Given the description of an element on the screen output the (x, y) to click on. 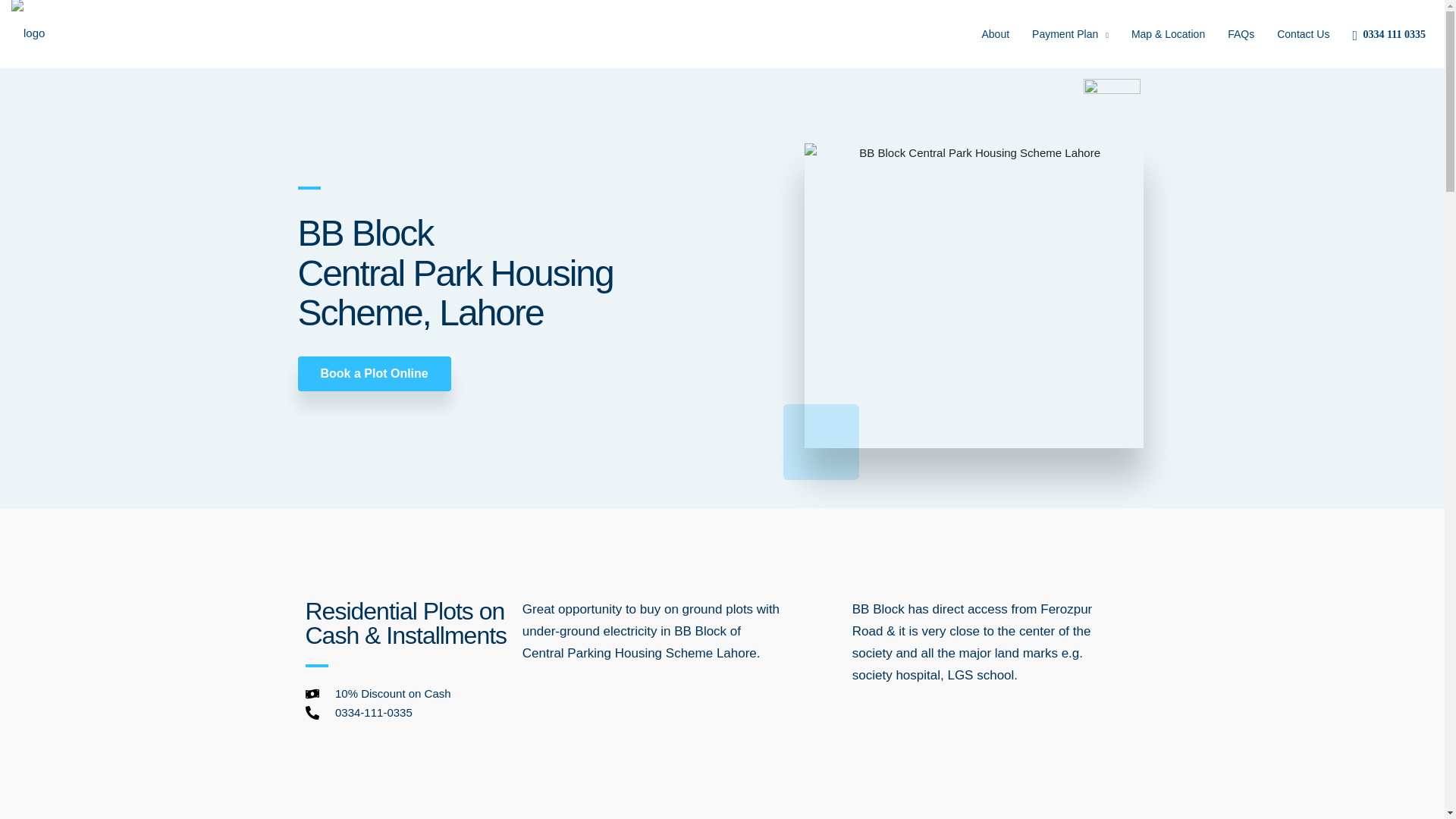
Contact Us (1302, 33)
Book a Plot Online (373, 373)
0334 111 0335 (1392, 34)
Payment Plan (1069, 34)
